Given the description of an element on the screen output the (x, y) to click on. 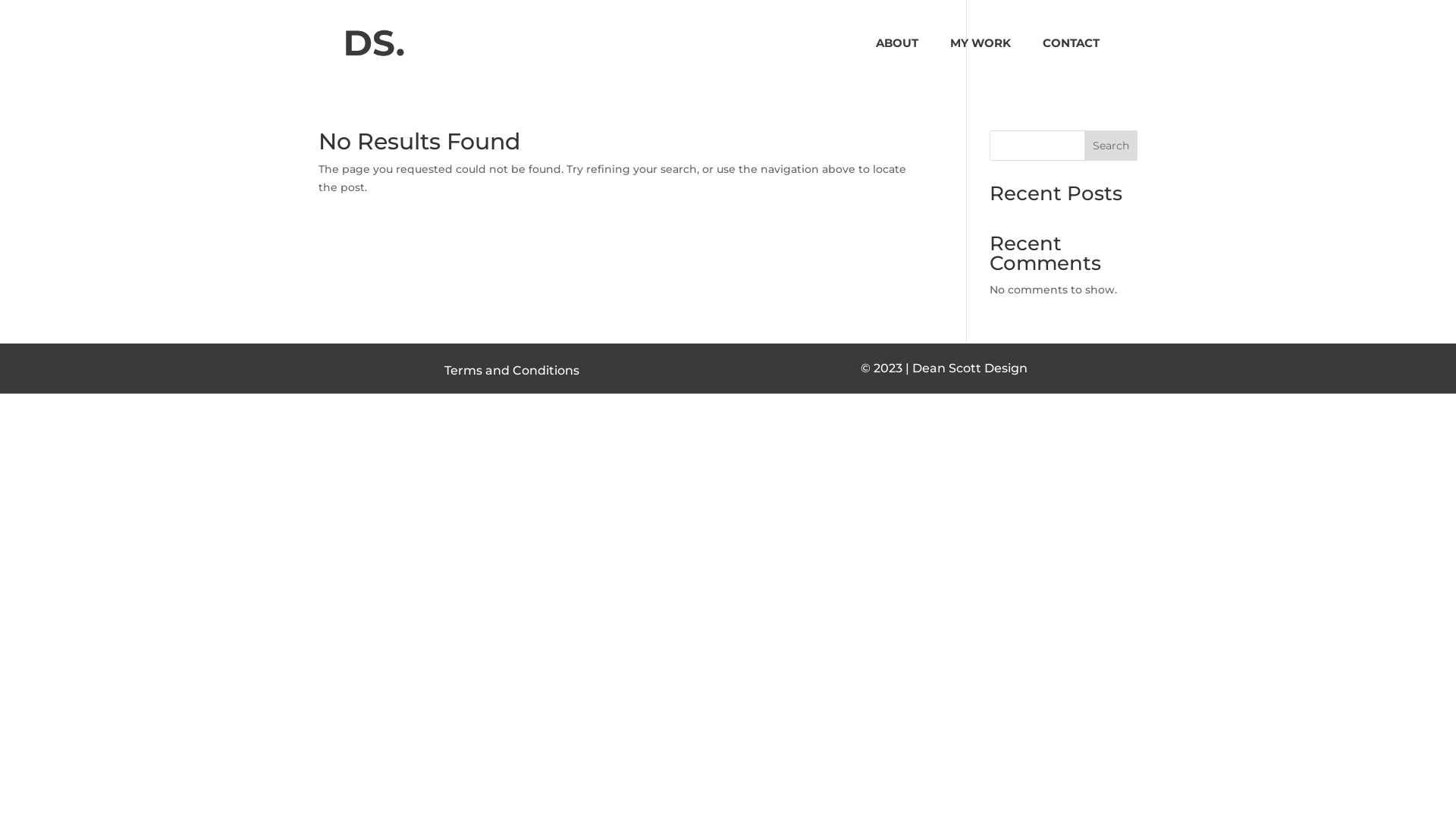
CONTACT Element type: text (1078, 61)
MY WORK Element type: text (988, 61)
ABOUT Element type: text (904, 61)
Search Element type: text (1110, 145)
